Given the description of an element on the screen output the (x, y) to click on. 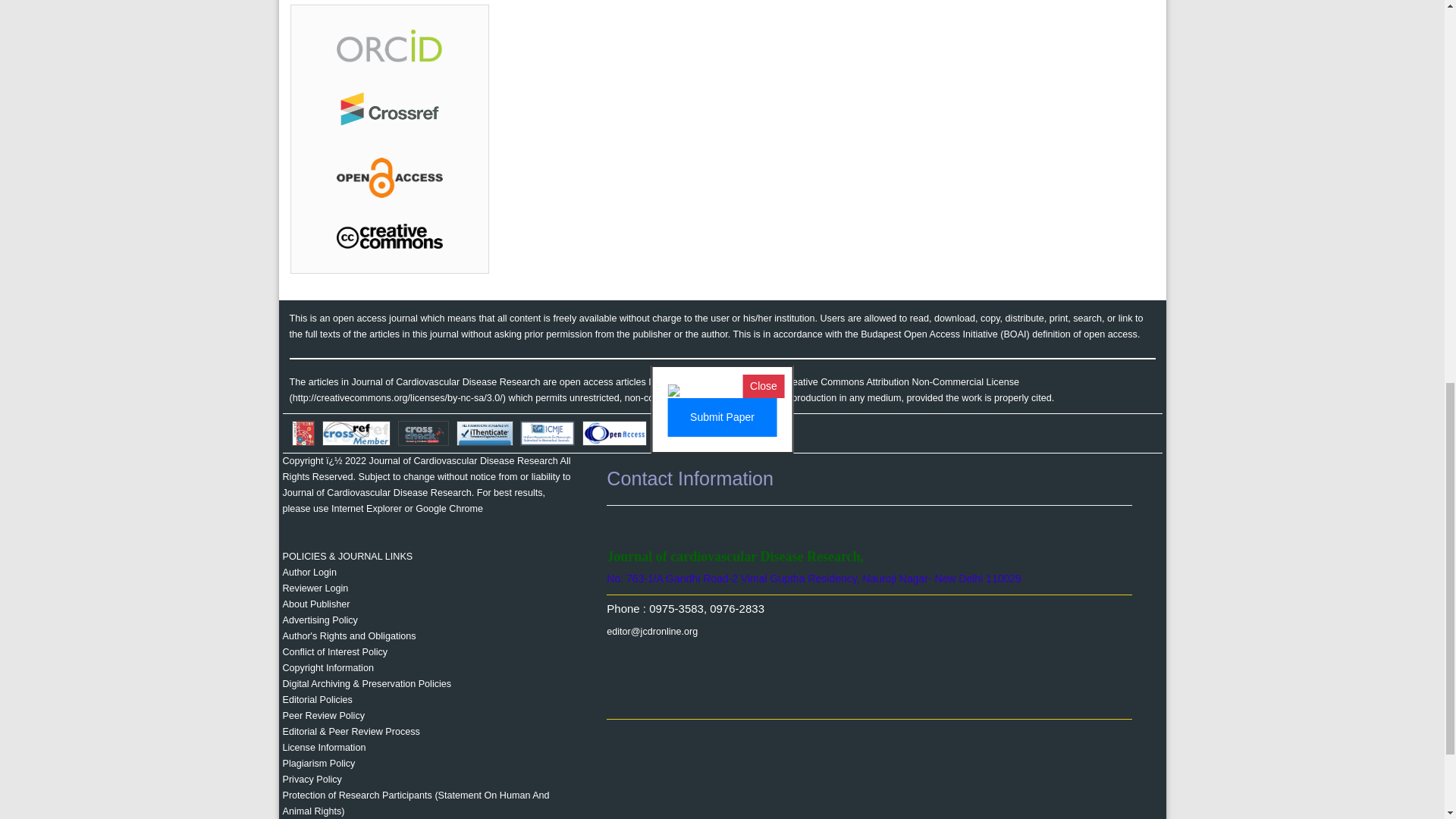
Conflict of Interest Policy (334, 652)
Author's Rights and Obligations (348, 635)
License Information (323, 747)
Plagiarism Policy (318, 763)
Reviewer Login (314, 588)
Peer Review Policy (323, 715)
About Publisher (315, 603)
Copyright Information (327, 667)
Advertising Policy (319, 620)
Editorial Policies (317, 699)
Author Login (309, 572)
